Given the description of an element on the screen output the (x, y) to click on. 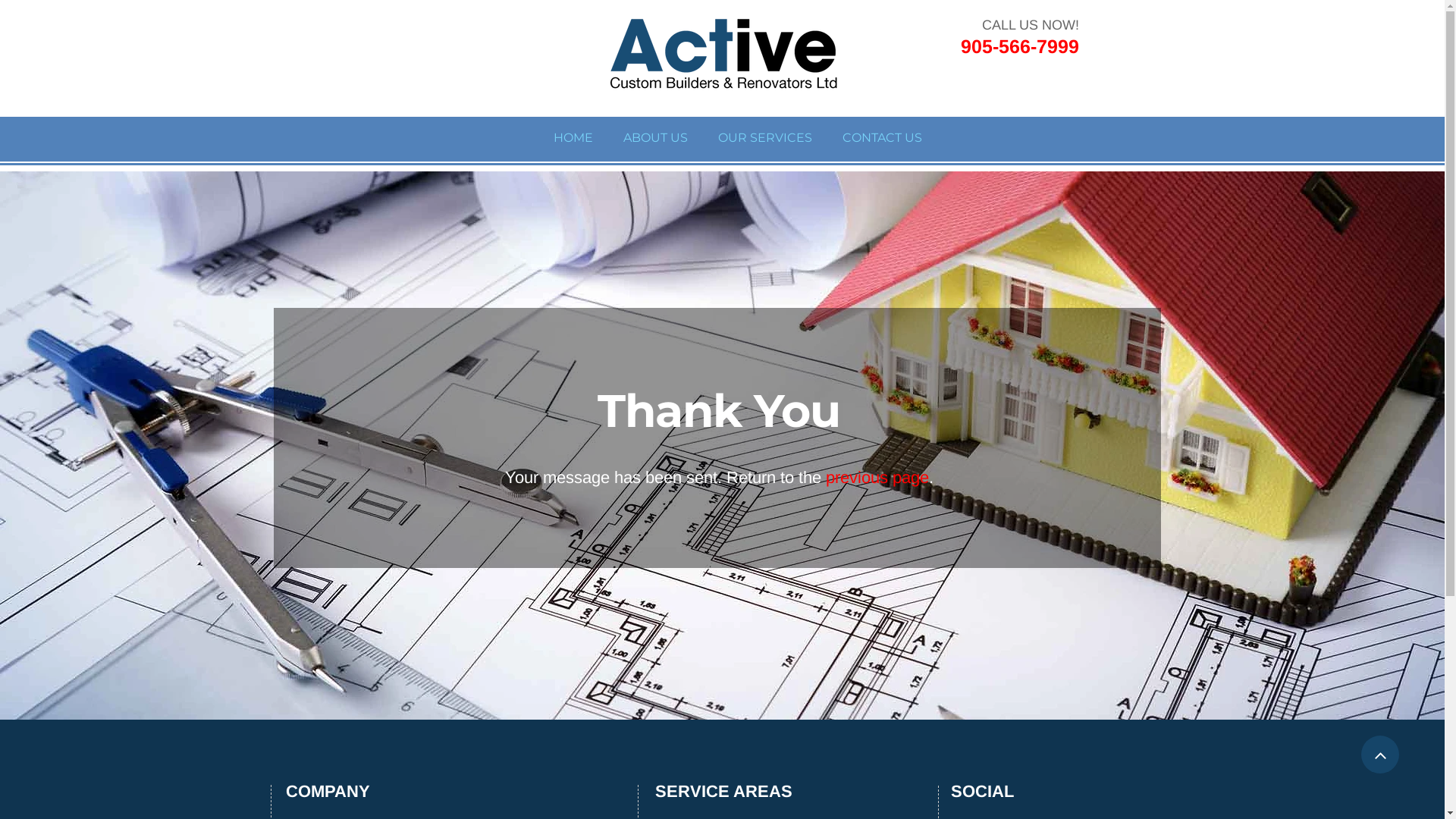
previous page Element type: text (876, 480)
HOME Element type: text (573, 136)
ABOUT US Element type: text (655, 136)
905-566-7999 Element type: text (1019, 50)
CONTACT US Element type: text (882, 136)
OUR SERVICES Element type: text (764, 136)
